Given the description of an element on the screen output the (x, y) to click on. 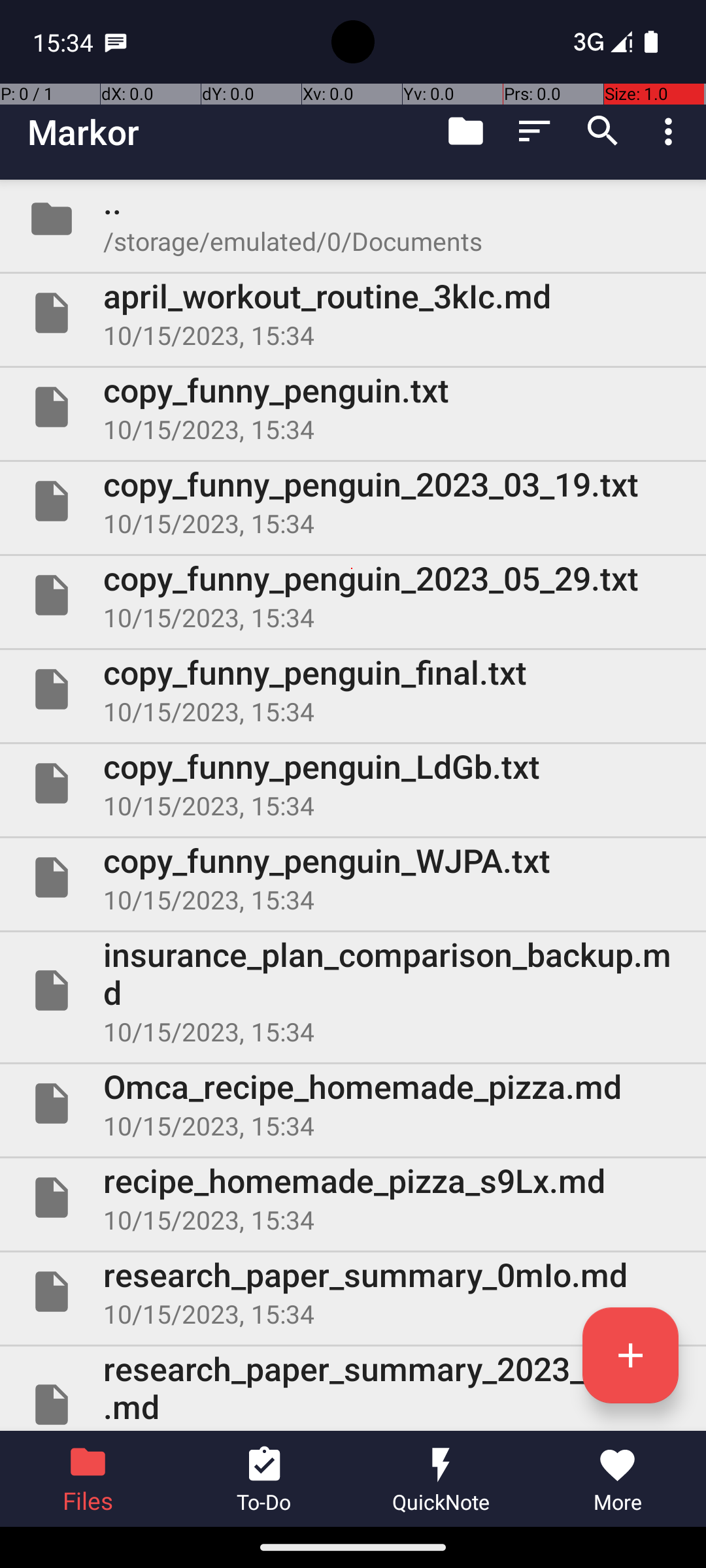
Create a new file or folder Element type: android.widget.ImageButton (630, 1355)
Markor Element type: android.widget.TextView (83, 131)
Go to Element type: android.widget.TextView (465, 131)
Sort by Element type: android.widget.TextView (534, 131)
To-Do Element type: android.widget.FrameLayout (264, 1478)
QuickNote Element type: android.widget.FrameLayout (441, 1478)
More Element type: android.widget.FrameLayout (617, 1478)
Folder ..  Element type: android.widget.LinearLayout (353, 218)
File april_workout_routine_3kIc.md  Element type: android.widget.LinearLayout (353, 312)
File copy_funny_penguin.txt  Element type: android.widget.LinearLayout (353, 406)
File copy_funny_penguin_2023_03_19.txt  Element type: android.widget.LinearLayout (353, 500)
File copy_funny_penguin_2023_05_29.txt  Element type: android.widget.LinearLayout (353, 594)
File copy_funny_penguin_final.txt  Element type: android.widget.LinearLayout (353, 689)
File copy_funny_penguin_LdGb.txt  Element type: android.widget.LinearLayout (353, 783)
File copy_funny_penguin_WJPA.txt  Element type: android.widget.LinearLayout (353, 877)
File insurance_plan_comparison_backup.md  Element type: android.widget.LinearLayout (353, 990)
File Omca_recipe_homemade_pizza.md  Element type: android.widget.LinearLayout (353, 1103)
File recipe_homemade_pizza_s9Lx.md  Element type: android.widget.LinearLayout (353, 1197)
File research_paper_summary_0mIo.md  Element type: android.widget.LinearLayout (353, 1291)
File research_paper_summary_2023_01_19.md  Element type: android.widget.LinearLayout (353, 1388)
